Given the description of an element on the screen output the (x, y) to click on. 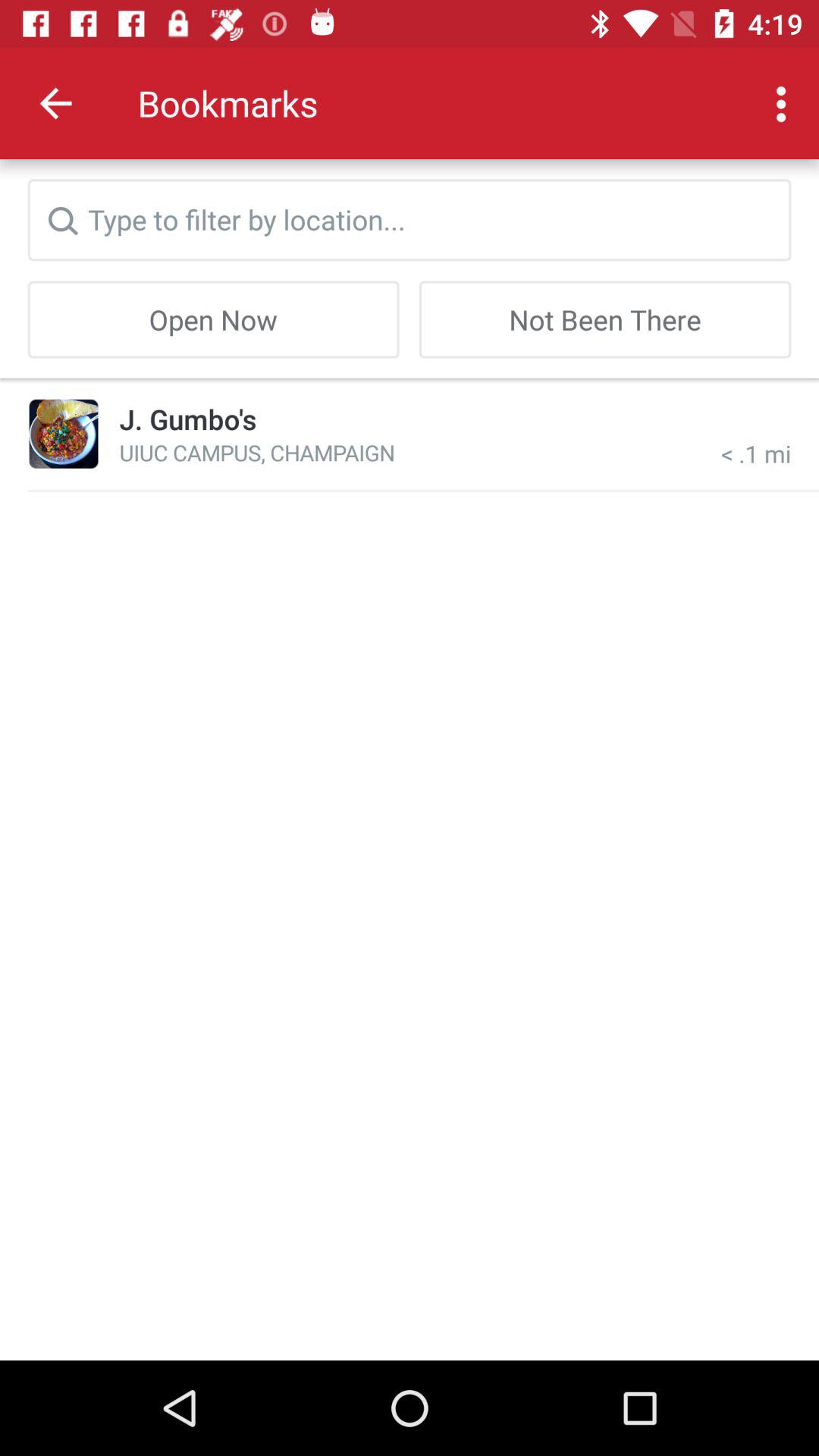
turn off the < .1 mi icon (756, 433)
